Given the description of an element on the screen output the (x, y) to click on. 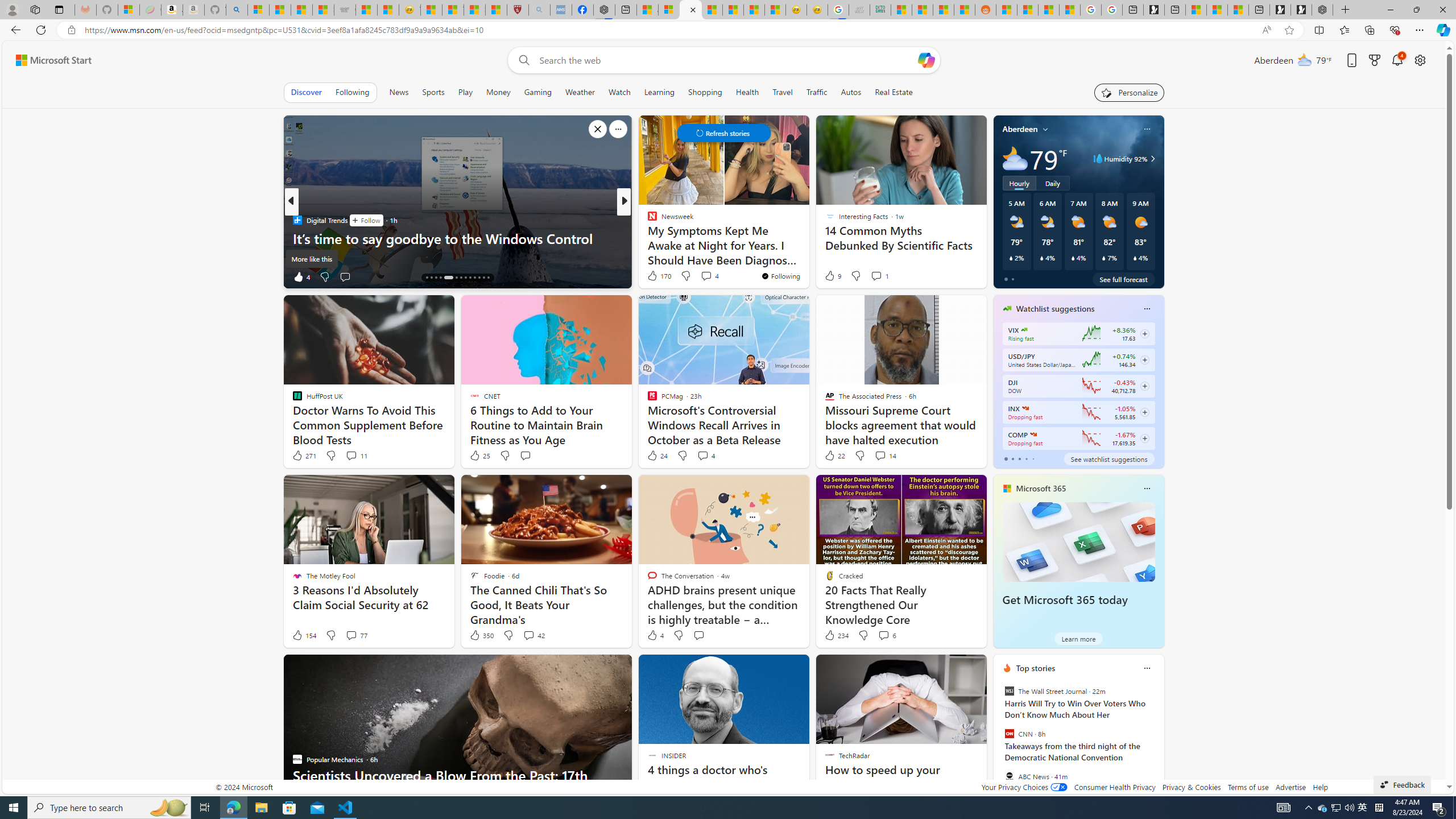
Stacker (647, 219)
View comments 77 Comment (355, 634)
Class: control (723, 132)
Top stories (1035, 668)
